Given the description of an element on the screen output the (x, y) to click on. 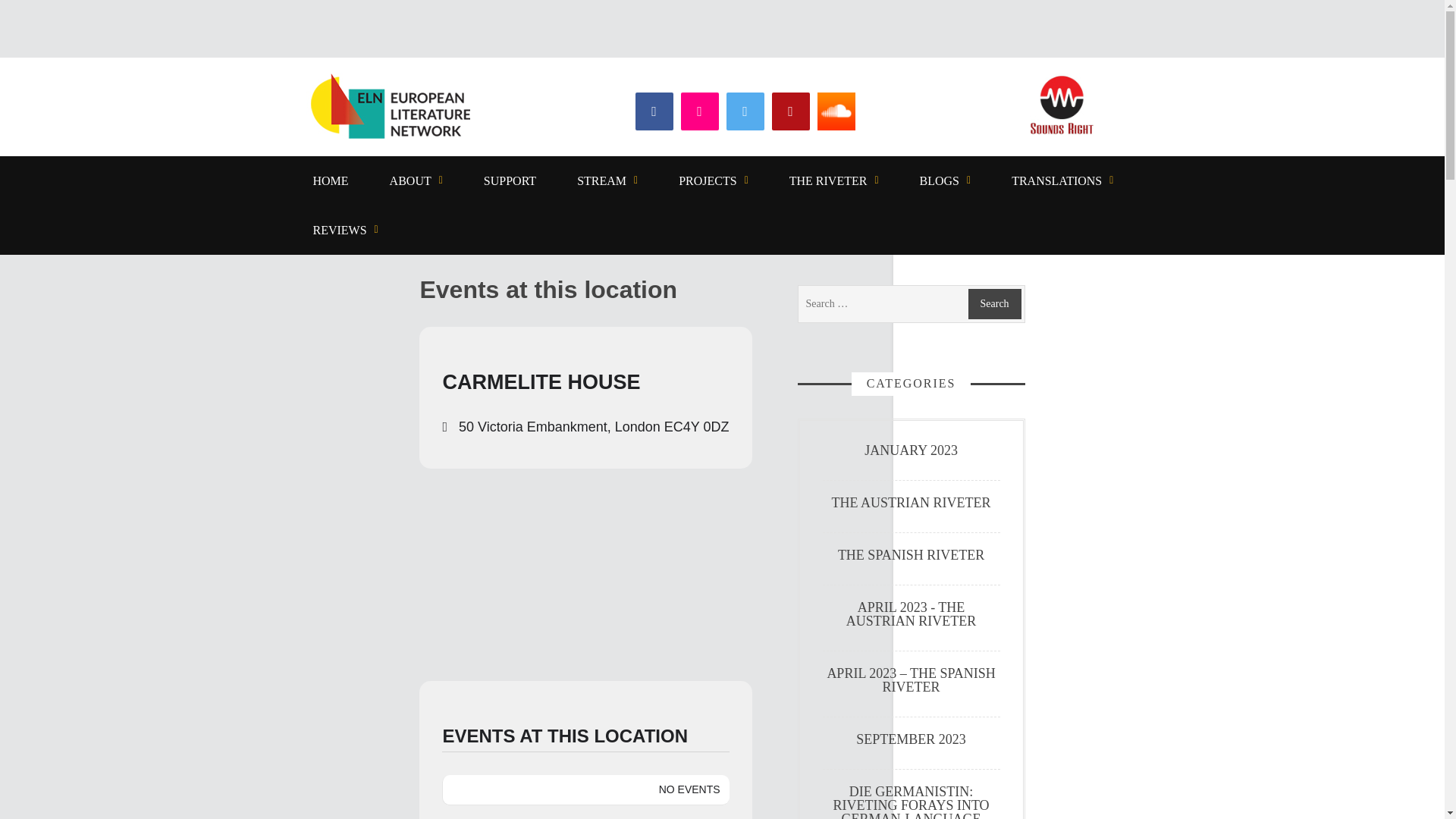
STREAM (606, 180)
Search (995, 304)
SUPPORT (509, 180)
HOME (331, 180)
ABOUT (416, 180)
Search (995, 304)
